Given the description of an element on the screen output the (x, y) to click on. 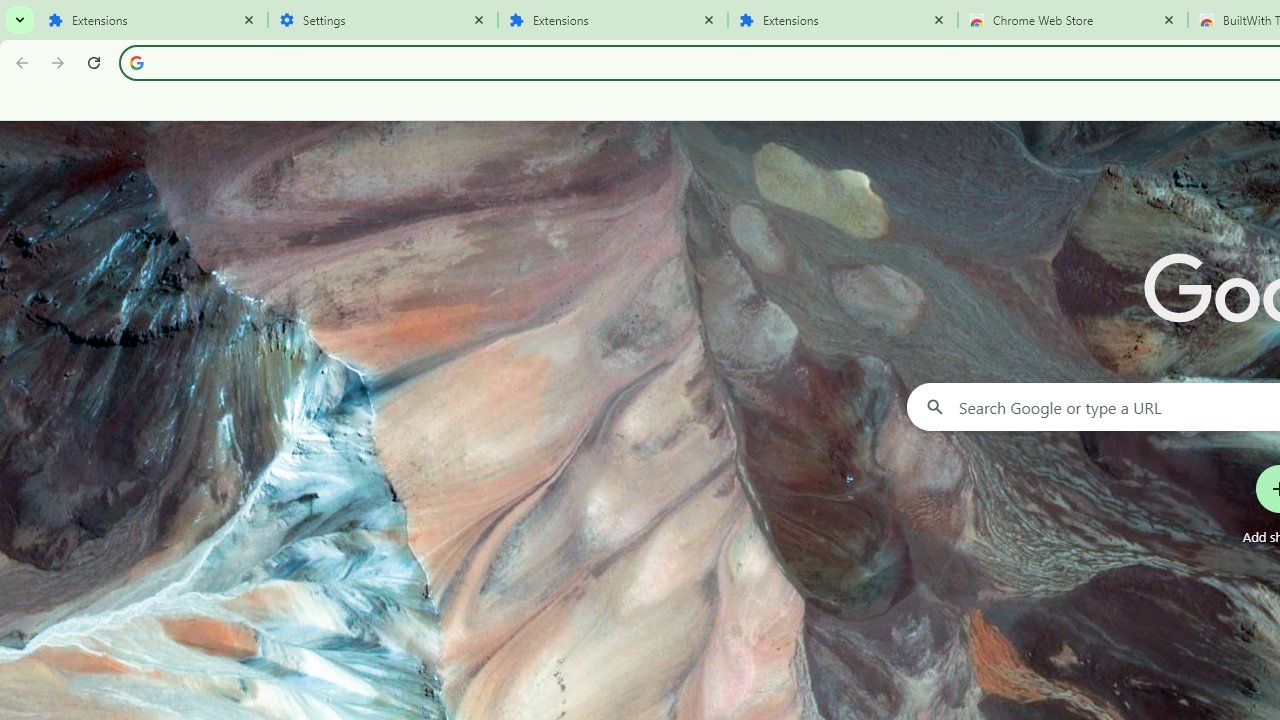
Extensions (842, 20)
Settings (382, 20)
Extensions (152, 20)
Extensions (612, 20)
Chrome Web Store (1072, 20)
